Given the description of an element on the screen output the (x, y) to click on. 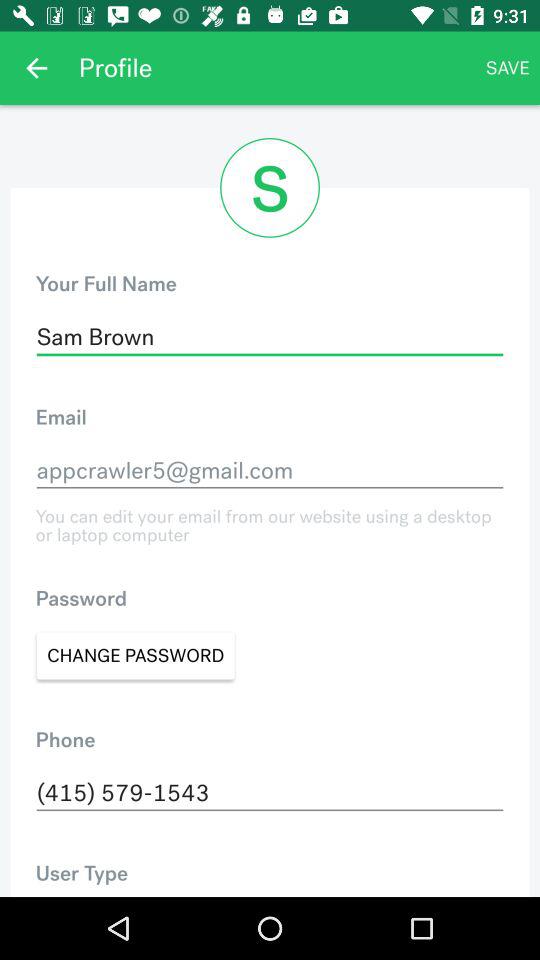
swipe until (415) 579-1543 icon (269, 793)
